Given the description of an element on the screen output the (x, y) to click on. 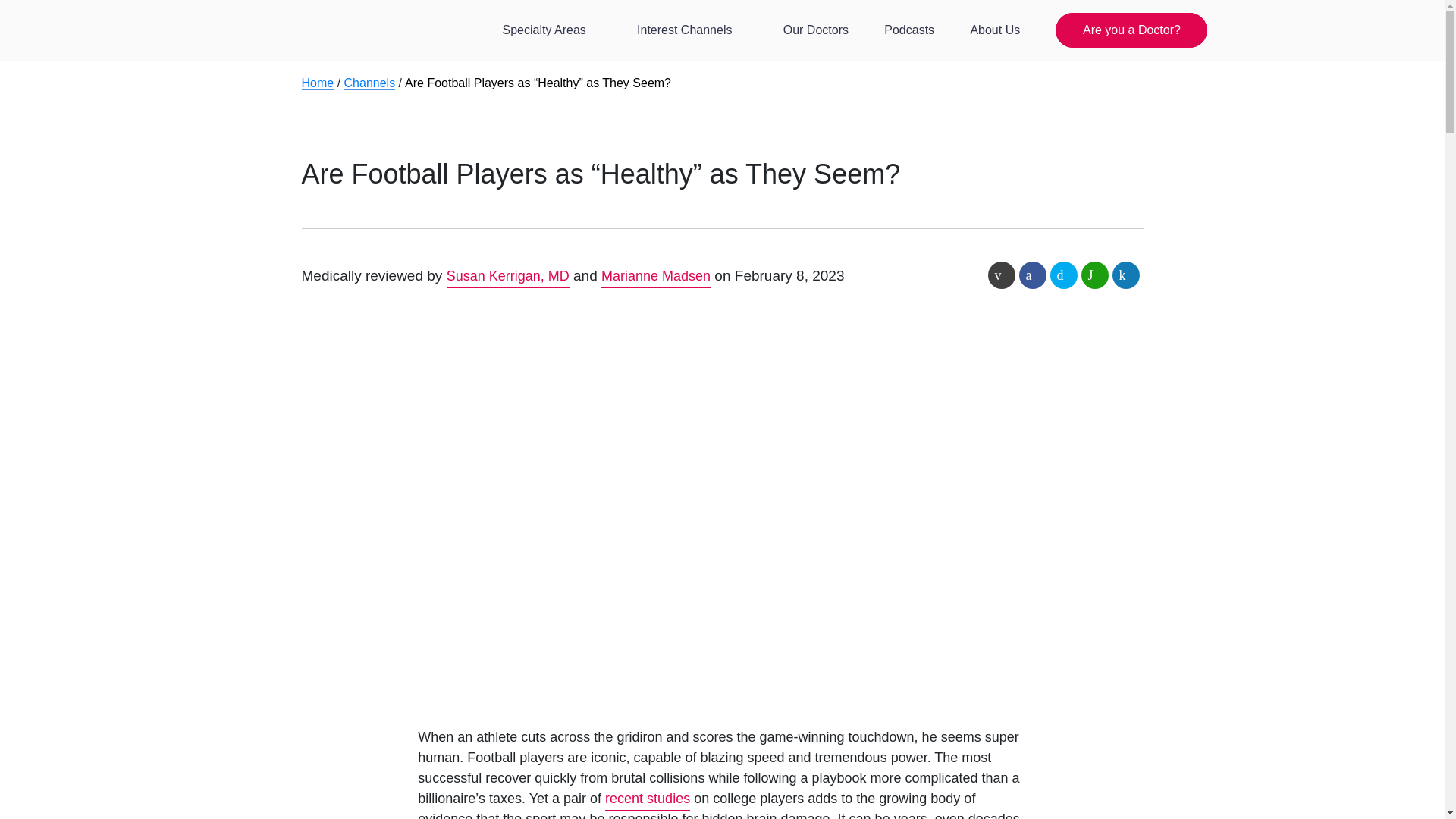
Home (317, 83)
Channels (369, 83)
Podcasts (908, 29)
Share on Twitter (1063, 275)
Share on WhatsApp (1094, 275)
Interest Channels (691, 29)
Share on Facebook (1032, 275)
Our Doctors (815, 29)
Share on LinkedIn (1125, 275)
Are you a Doctor? (1131, 30)
Share on Email (1000, 275)
About Us (994, 29)
Doctorpedia (316, 56)
Specialty Areas (550, 29)
